Given the description of an element on the screen output the (x, y) to click on. 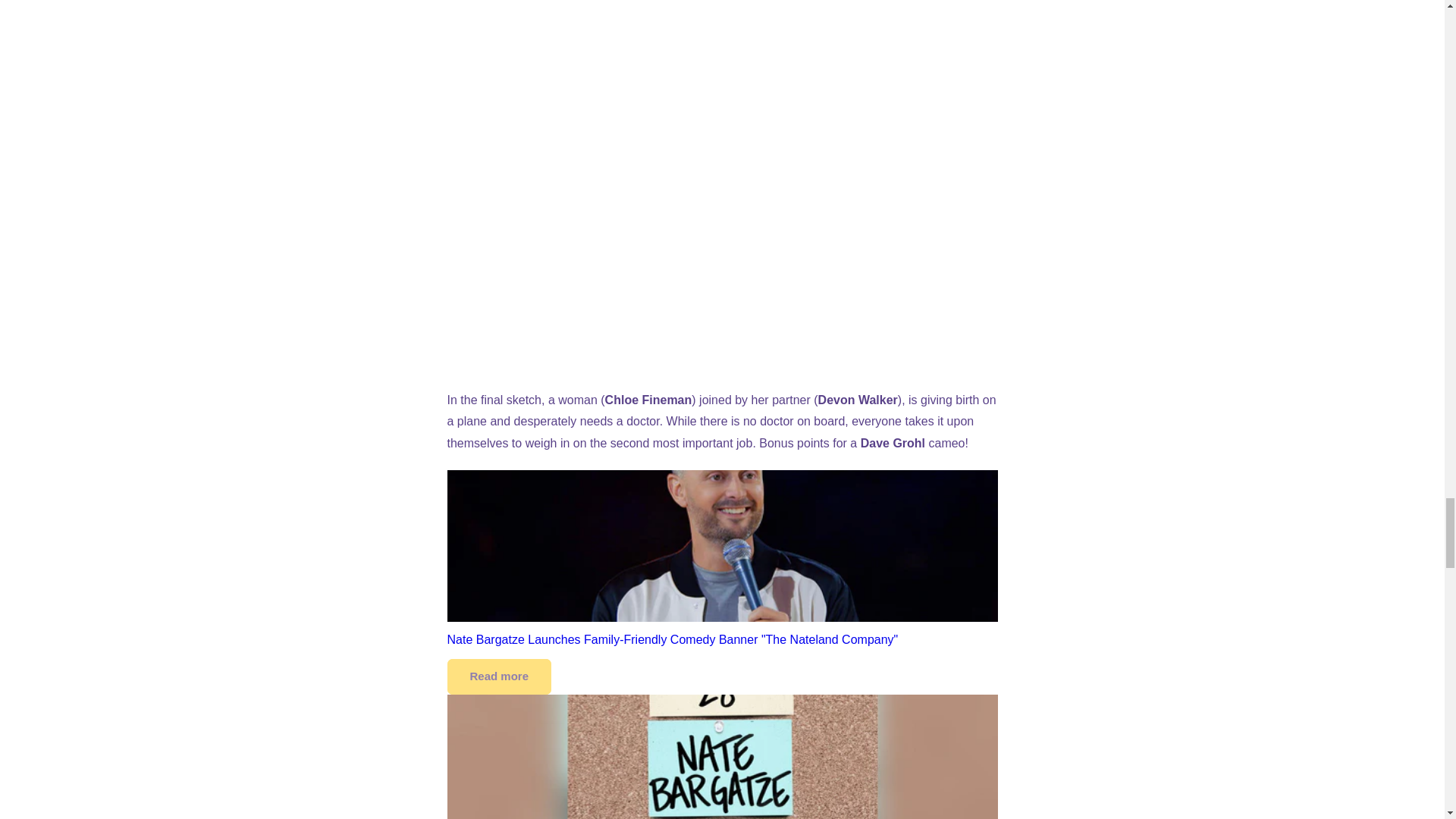
YouTube video player (721, 80)
